Given the description of an element on the screen output the (x, y) to click on. 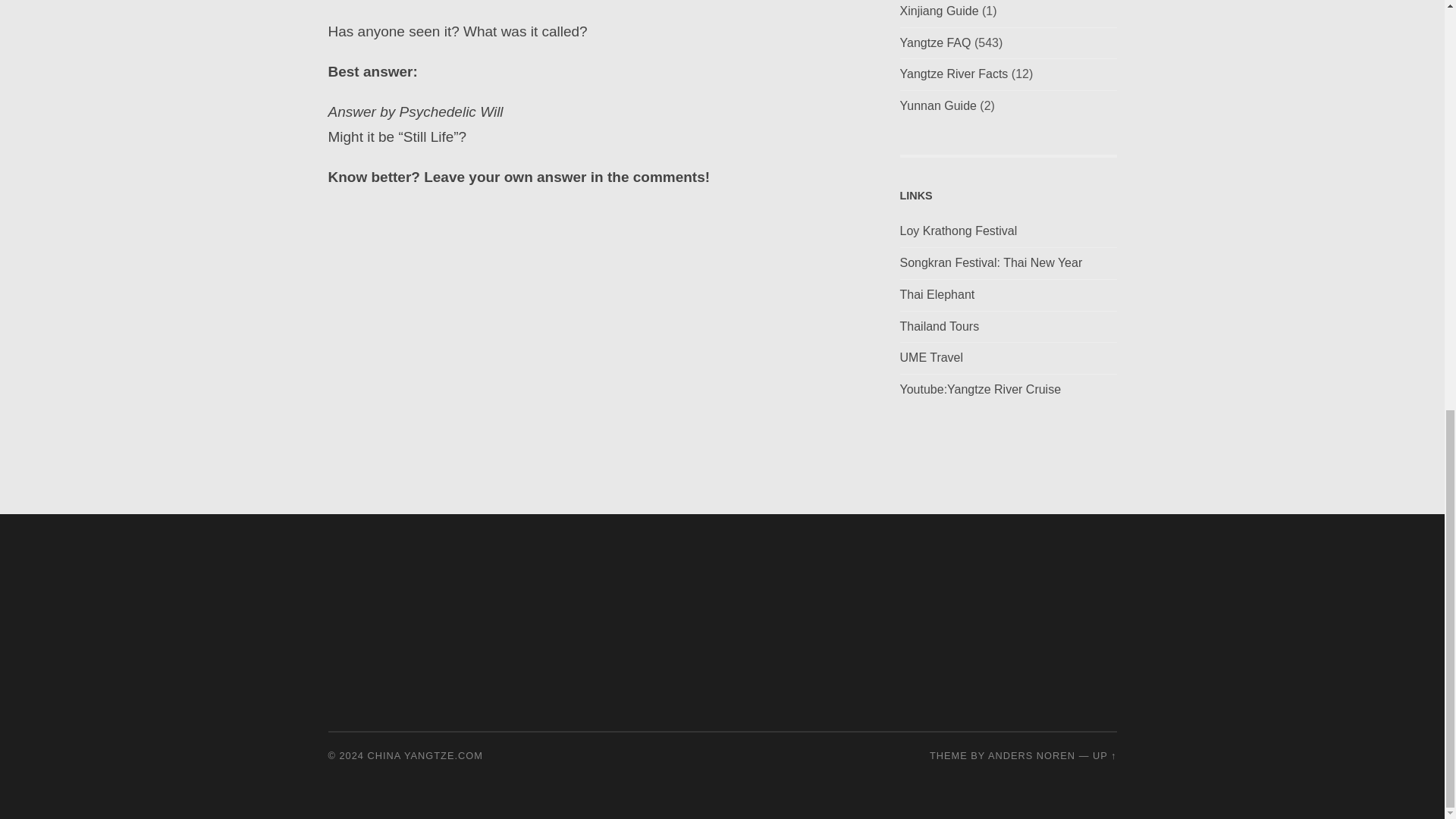
Yangtze River Facts (953, 73)
Youtube:Yangtze River Cruise (980, 389)
Yangtze FAQ (935, 42)
Thai Elephant (936, 294)
Loy Krathong Festival (957, 230)
Songkran Festival: Thai New Year (990, 262)
Thailand Tours (938, 326)
Xinjiang Guide (938, 10)
UME Travel (930, 357)
To the top (1104, 755)
